Given the description of an element on the screen output the (x, y) to click on. 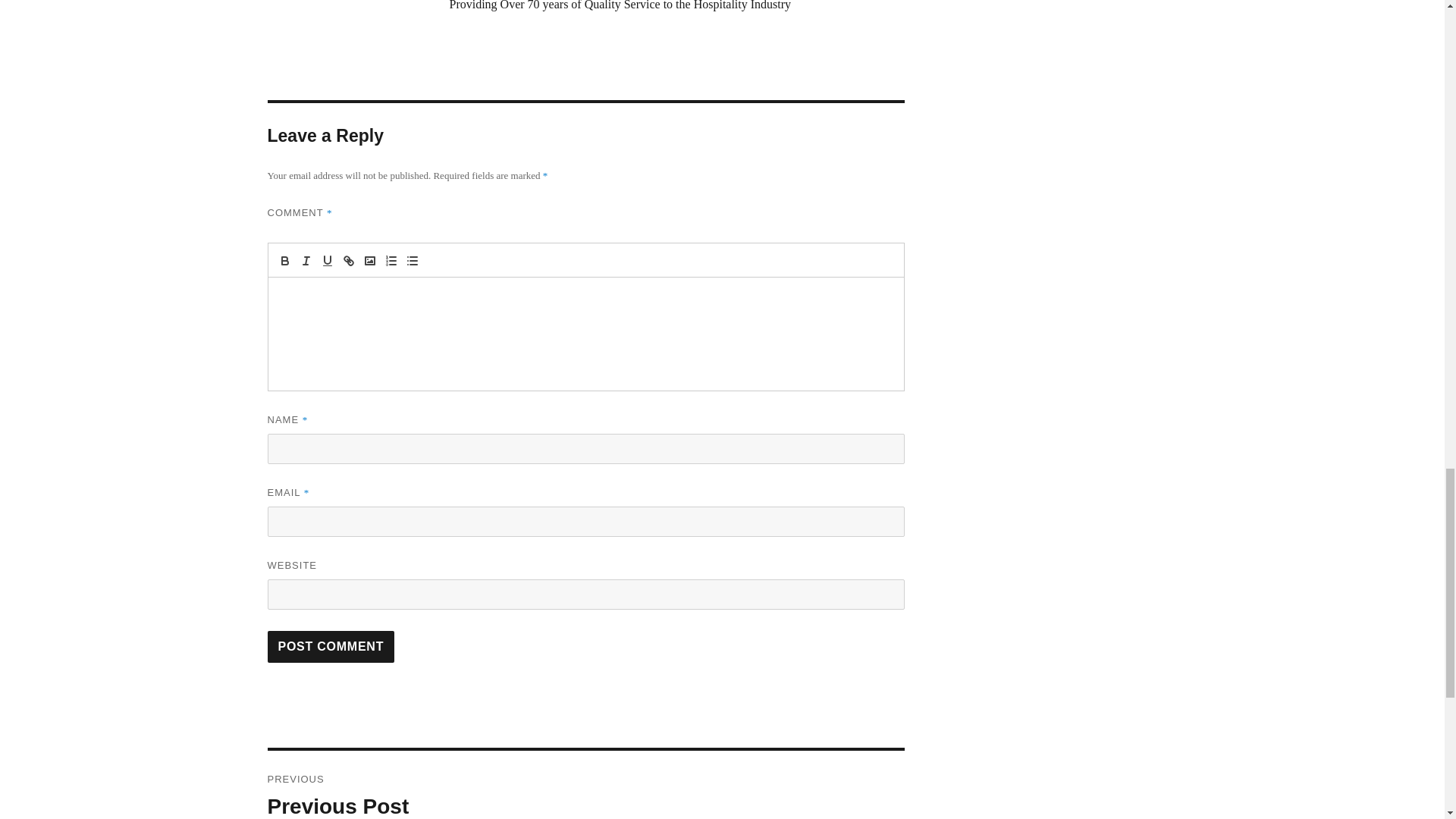
ordered (390, 260)
Post Comment (330, 646)
bullet (412, 260)
